Given the description of an element on the screen output the (x, y) to click on. 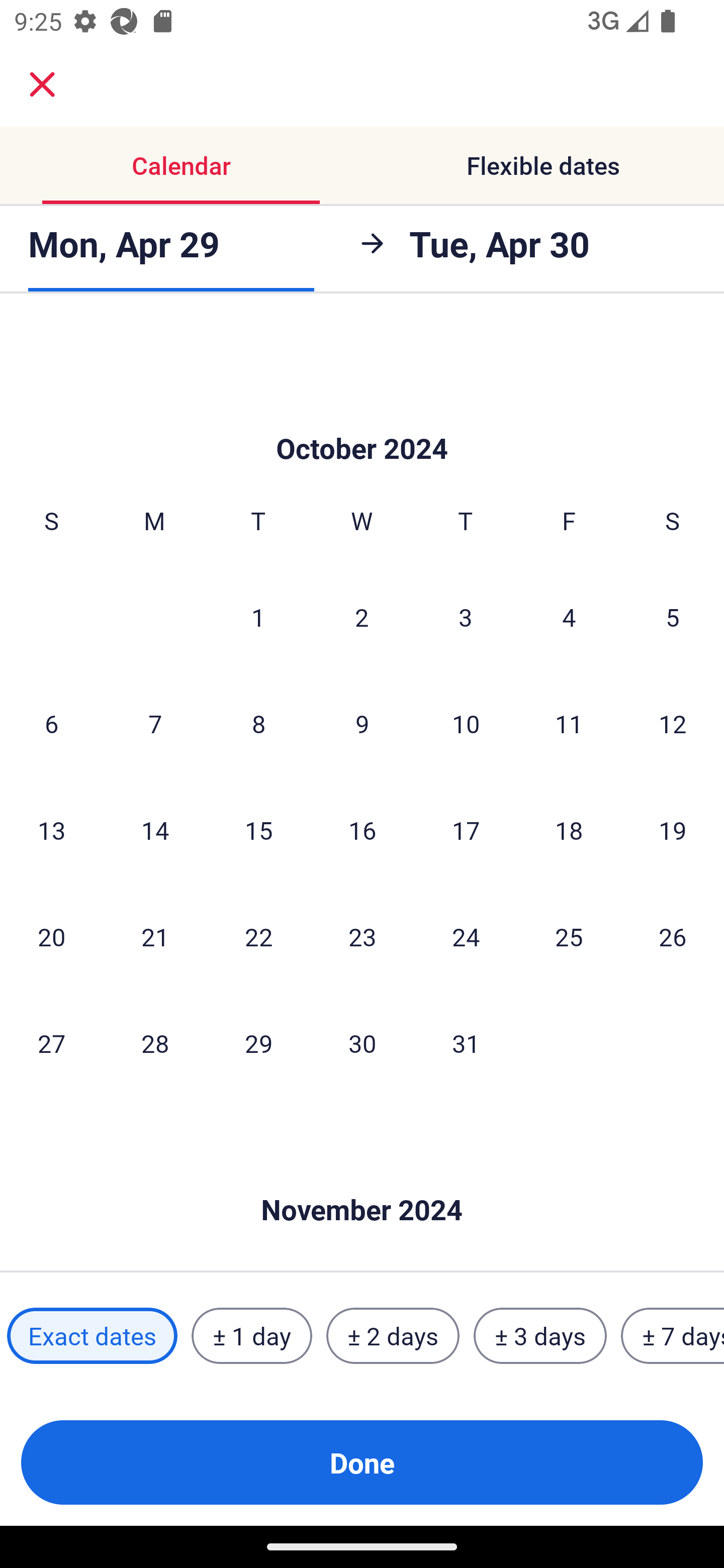
close. (42, 84)
Flexible dates (542, 164)
Skip to Done (362, 418)
1 Tuesday, October 1, 2024 (257, 616)
2 Wednesday, October 2, 2024 (361, 616)
3 Thursday, October 3, 2024 (465, 616)
4 Friday, October 4, 2024 (569, 616)
5 Saturday, October 5, 2024 (672, 616)
6 Sunday, October 6, 2024 (51, 723)
7 Monday, October 7, 2024 (155, 723)
8 Tuesday, October 8, 2024 (258, 723)
9 Wednesday, October 9, 2024 (362, 723)
10 Thursday, October 10, 2024 (465, 723)
11 Friday, October 11, 2024 (569, 723)
12 Saturday, October 12, 2024 (672, 723)
13 Sunday, October 13, 2024 (51, 829)
14 Monday, October 14, 2024 (155, 829)
15 Tuesday, October 15, 2024 (258, 829)
16 Wednesday, October 16, 2024 (362, 829)
17 Thursday, October 17, 2024 (465, 829)
18 Friday, October 18, 2024 (569, 829)
19 Saturday, October 19, 2024 (672, 829)
20 Sunday, October 20, 2024 (51, 935)
21 Monday, October 21, 2024 (155, 935)
22 Tuesday, October 22, 2024 (258, 935)
23 Wednesday, October 23, 2024 (362, 935)
24 Thursday, October 24, 2024 (465, 935)
25 Friday, October 25, 2024 (569, 935)
26 Saturday, October 26, 2024 (672, 935)
27 Sunday, October 27, 2024 (51, 1042)
28 Monday, October 28, 2024 (155, 1042)
29 Tuesday, October 29, 2024 (258, 1042)
30 Wednesday, October 30, 2024 (362, 1042)
31 Thursday, October 31, 2024 (465, 1042)
Skip to Done (362, 1179)
Exact dates (92, 1335)
± 1 day (251, 1335)
± 2 days (392, 1335)
± 3 days (539, 1335)
± 7 days (672, 1335)
Done (361, 1462)
